Given the description of an element on the screen output the (x, y) to click on. 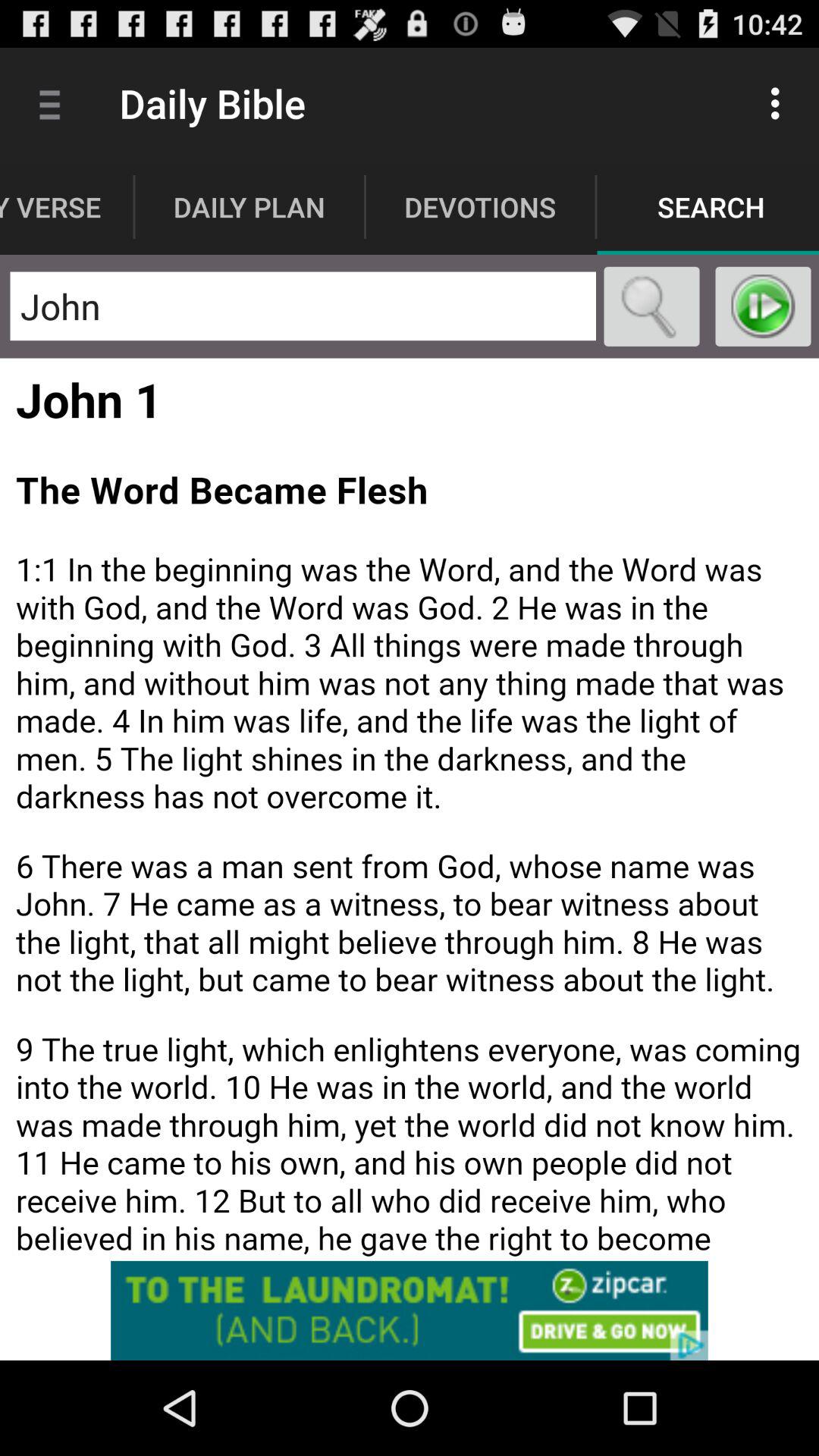
search (651, 306)
